Given the description of an element on the screen output the (x, y) to click on. 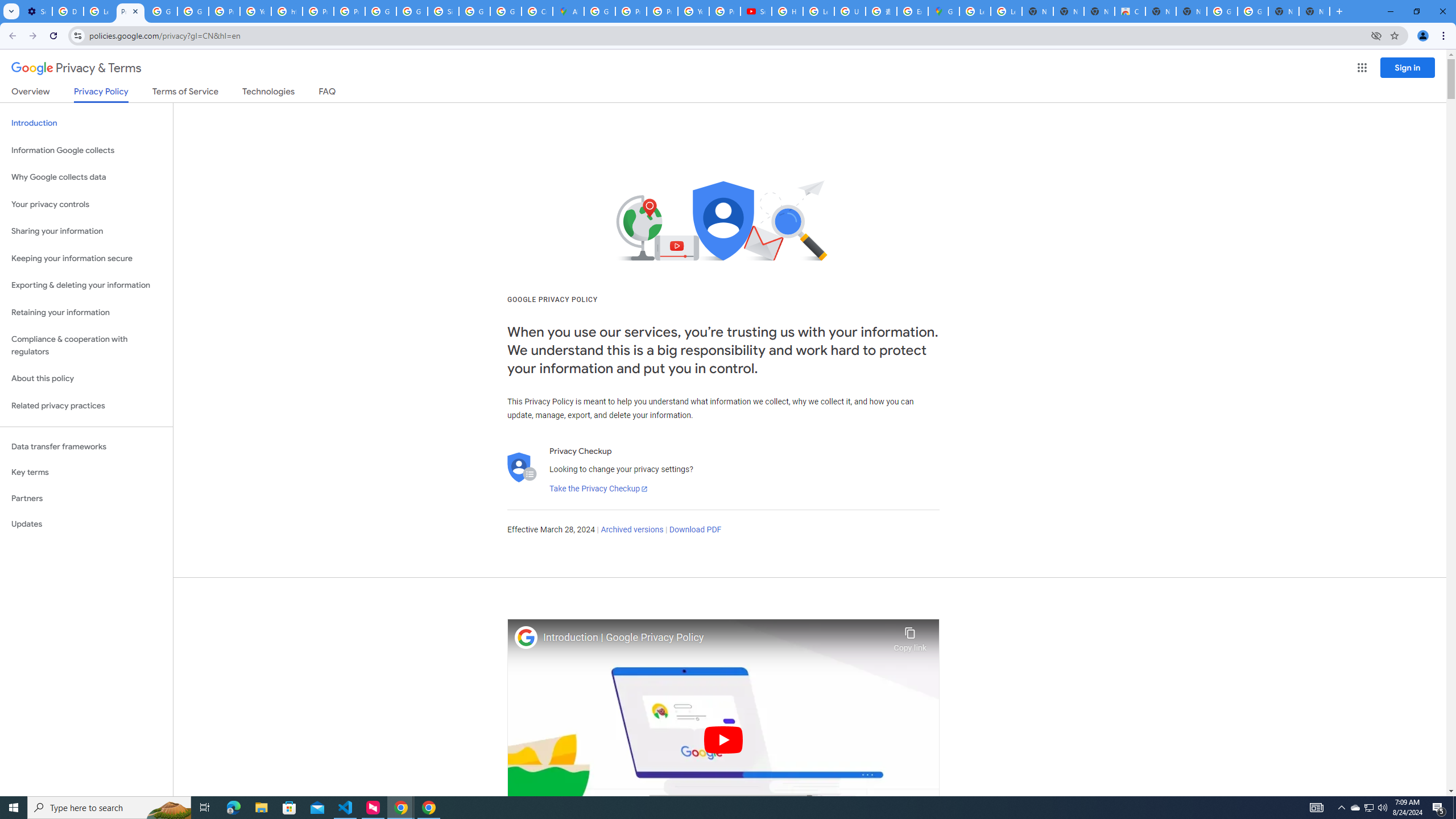
YouTube (693, 11)
Archived versions (631, 529)
Why Google collects data (86, 176)
Chrome Web Store (1129, 11)
Photo image of Google (526, 636)
YouTube (255, 11)
Keeping your information secure (86, 258)
Privacy Help Center - Policies Help (318, 11)
Privacy Help Center - Policies Help (662, 11)
Sharing your information (86, 230)
